Given the description of an element on the screen output the (x, y) to click on. 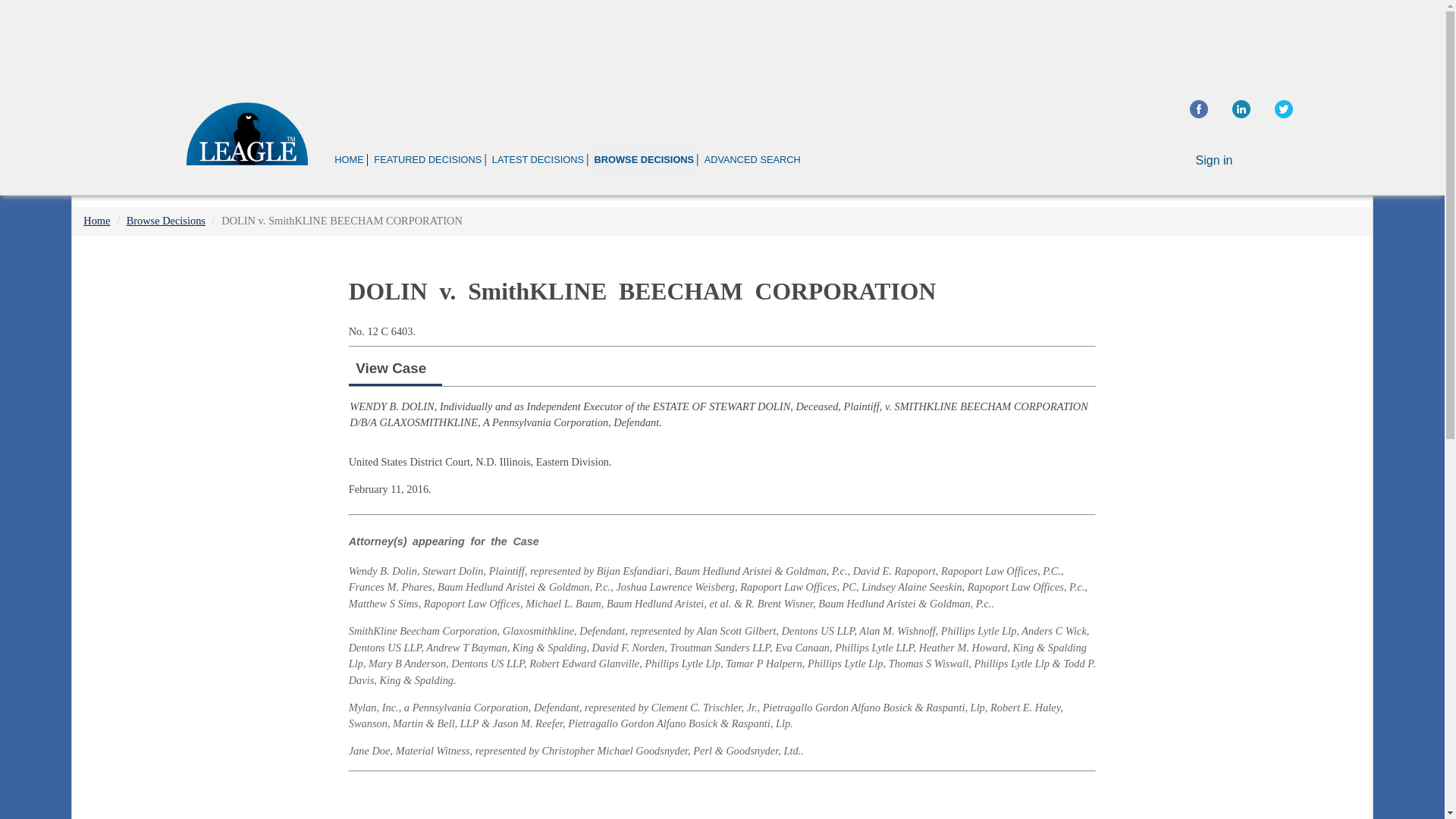
Home (96, 220)
BROWSE DECISIONS (643, 159)
View Case (390, 367)
ADVANCED SEARCH (752, 159)
HOME (348, 159)
Browse Decisions (165, 220)
Advertisement (721, 41)
FEATURED DECISIONS (427, 159)
LATEST DECISIONS (537, 159)
Sign in (1214, 160)
Advertisement (722, 798)
